Given the description of an element on the screen output the (x, y) to click on. 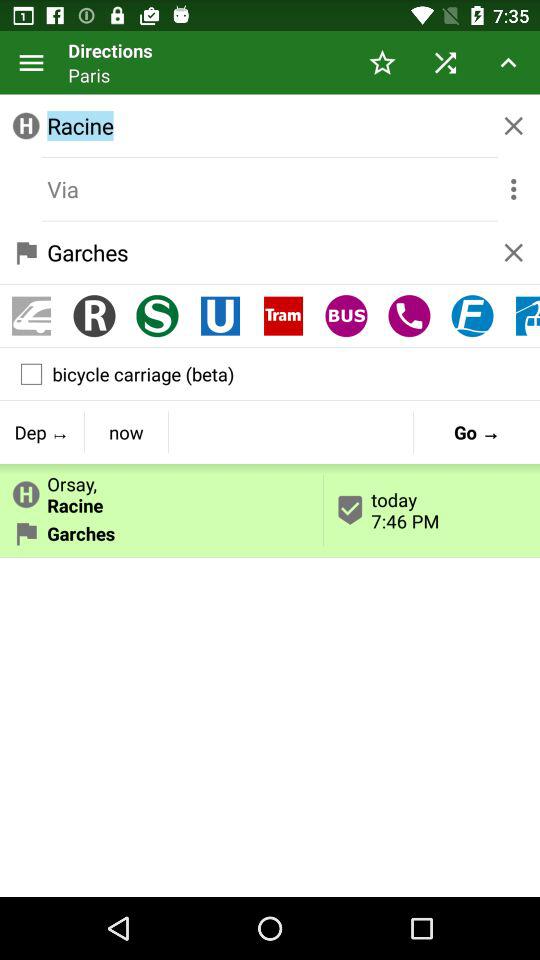
turn on the item below the bicycle carriage (beta) (42, 431)
